Given the description of an element on the screen output the (x, y) to click on. 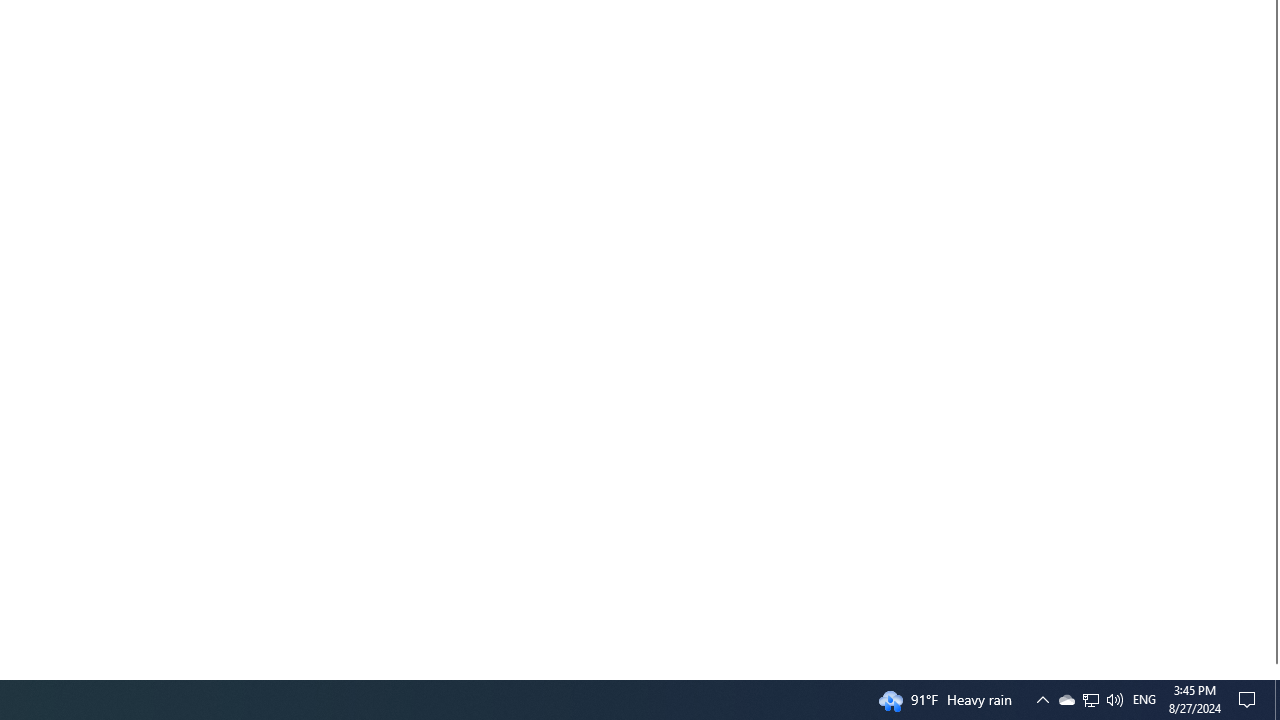
Vertical Small Increase (1272, 671)
